Given the description of an element on the screen output the (x, y) to click on. 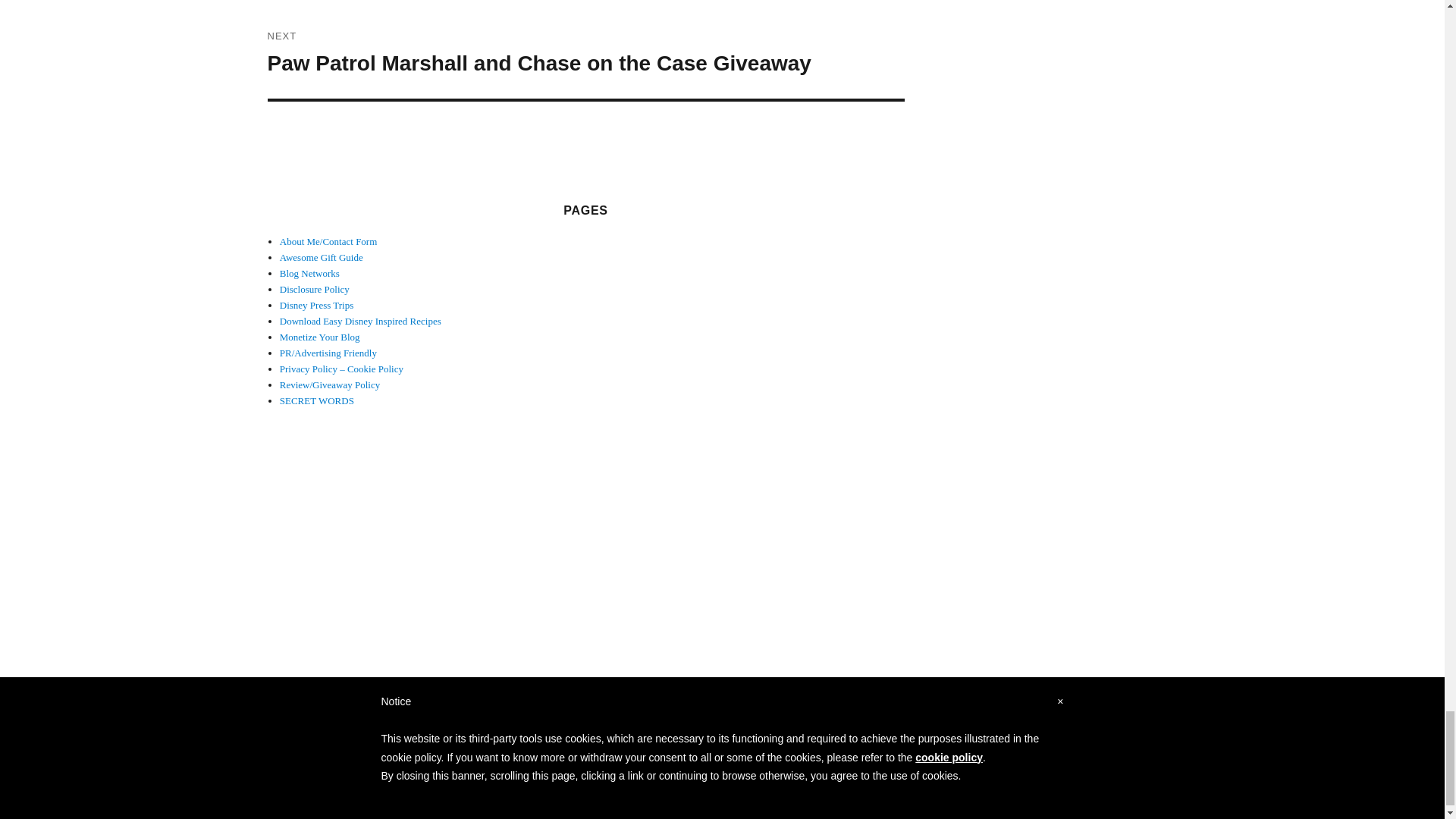
Download Easy Disney Inspired Recipes (360, 320)
Blog Networks (309, 273)
Disney Press Trips (316, 305)
Awesome Gift Guide (320, 256)
Disclosure Policy (314, 288)
